Given the description of an element on the screen output the (x, y) to click on. 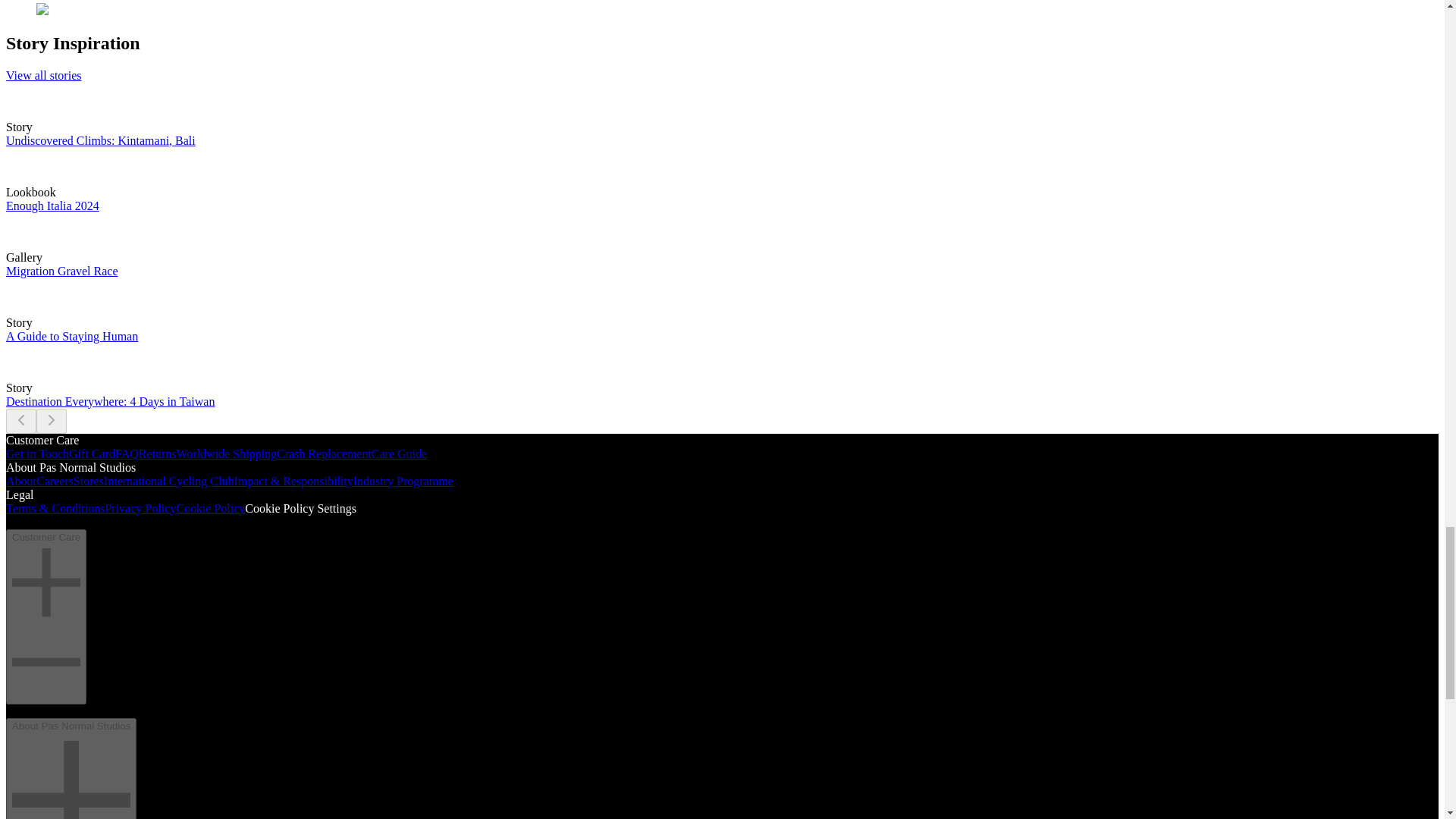
Migration Gravel Race (61, 270)
FAQ (126, 453)
Get in Touch (36, 453)
Industry Programme (402, 481)
International Cycling Club (168, 481)
A Guide to Staying Human (71, 336)
Privacy Policy (140, 508)
About Pas Normal Studios (70, 768)
Care Guide (398, 453)
Cookie Policy (210, 508)
About (20, 481)
Careers (55, 481)
Returns (157, 453)
Gift Card (91, 453)
Enough Italia 2024 (52, 205)
